Given the description of an element on the screen output the (x, y) to click on. 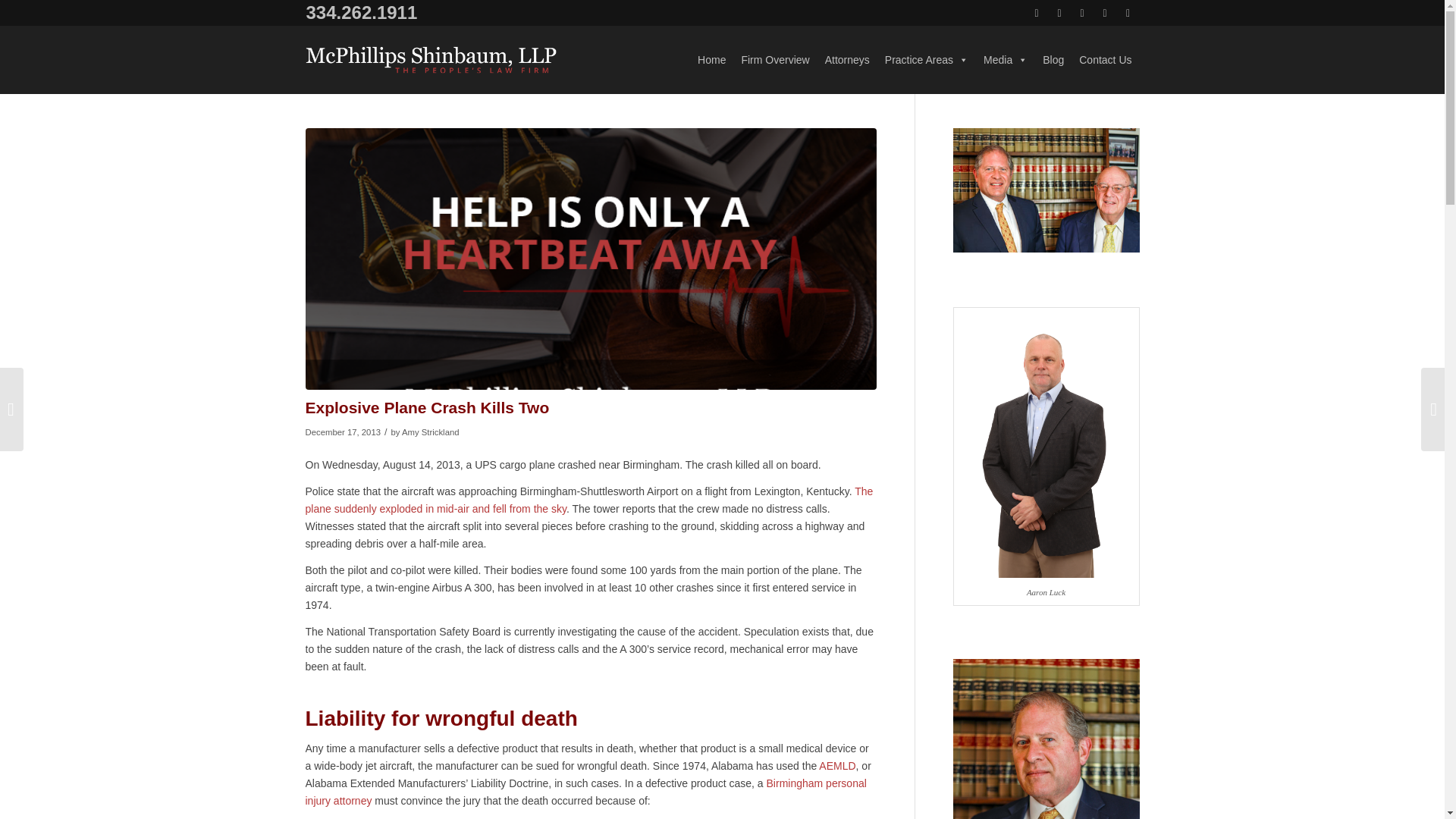
The plane suddenly exploded in mid-air and fell from the sky (588, 500)
Posts by Amy Strickland (430, 431)
334.262.1911 (360, 12)
Contact Us (1104, 59)
Practice Areas (926, 59)
AEMLD (837, 766)
Amy Strickland (430, 431)
Firm Overview (774, 59)
